Given the description of an element on the screen output the (x, y) to click on. 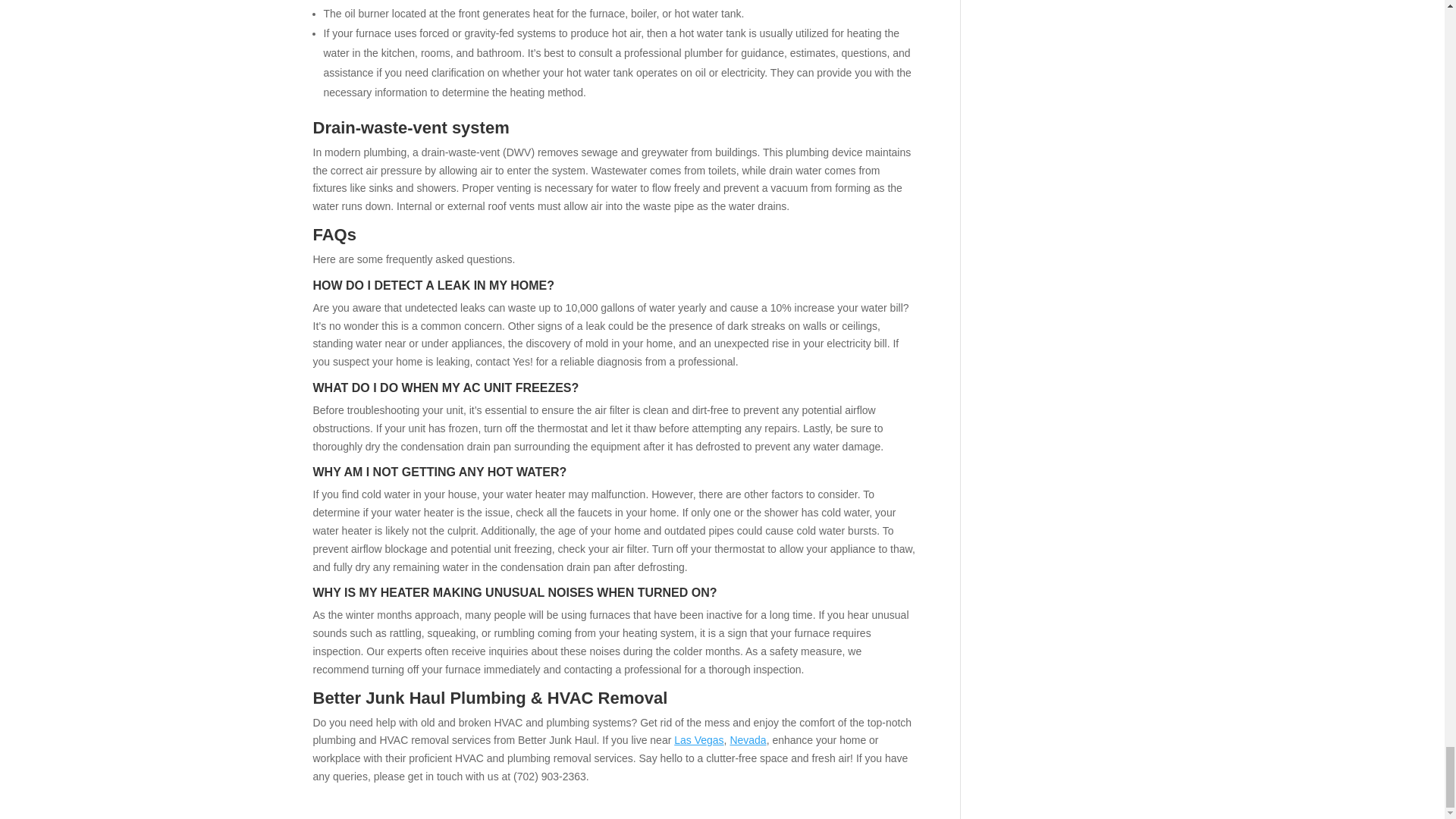
Las Vegas (698, 739)
Nevada (747, 739)
